Given the description of an element on the screen output the (x, y) to click on. 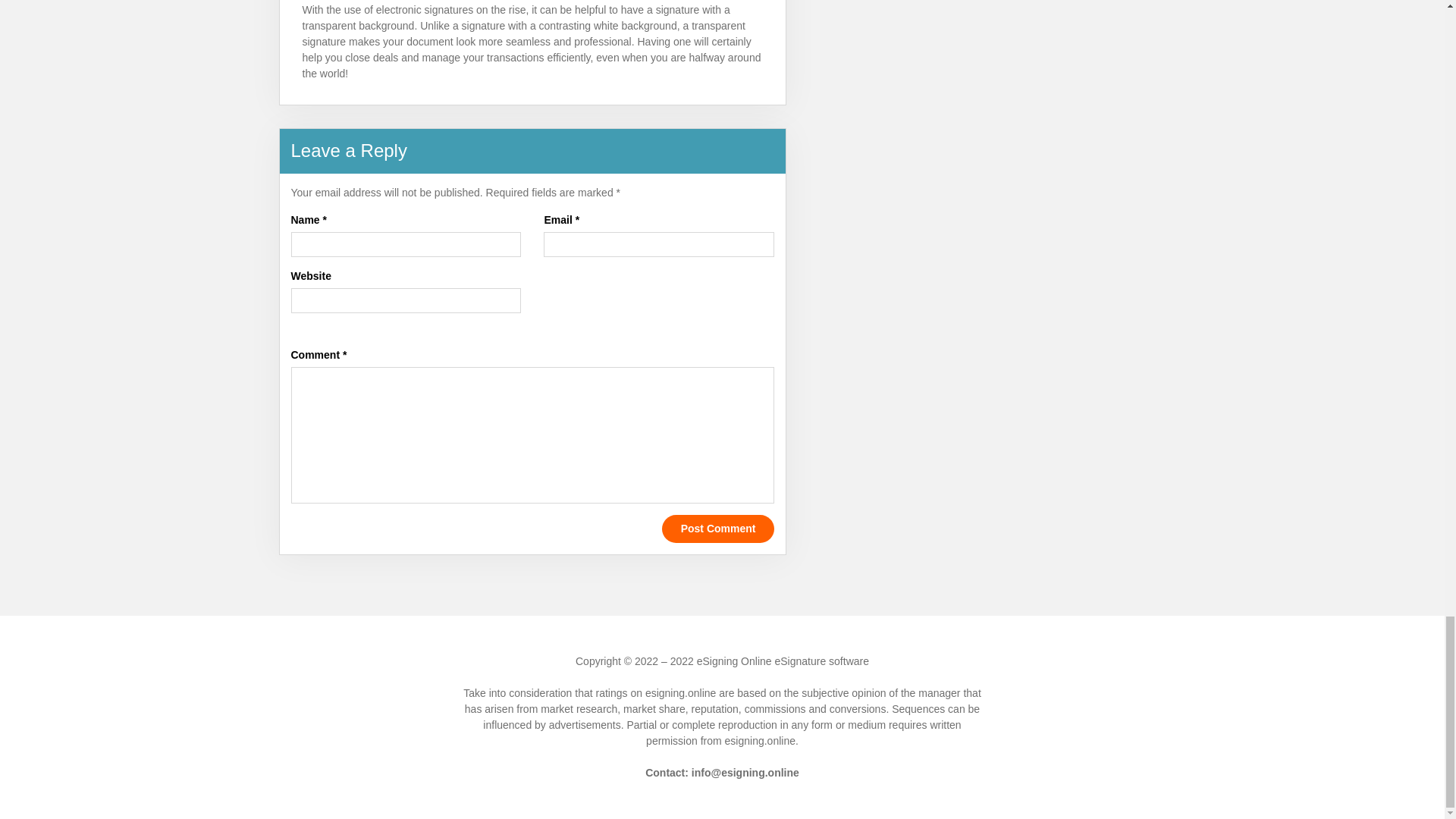
Post Comment (718, 528)
Post Comment (718, 528)
